Given the description of an element on the screen output the (x, y) to click on. 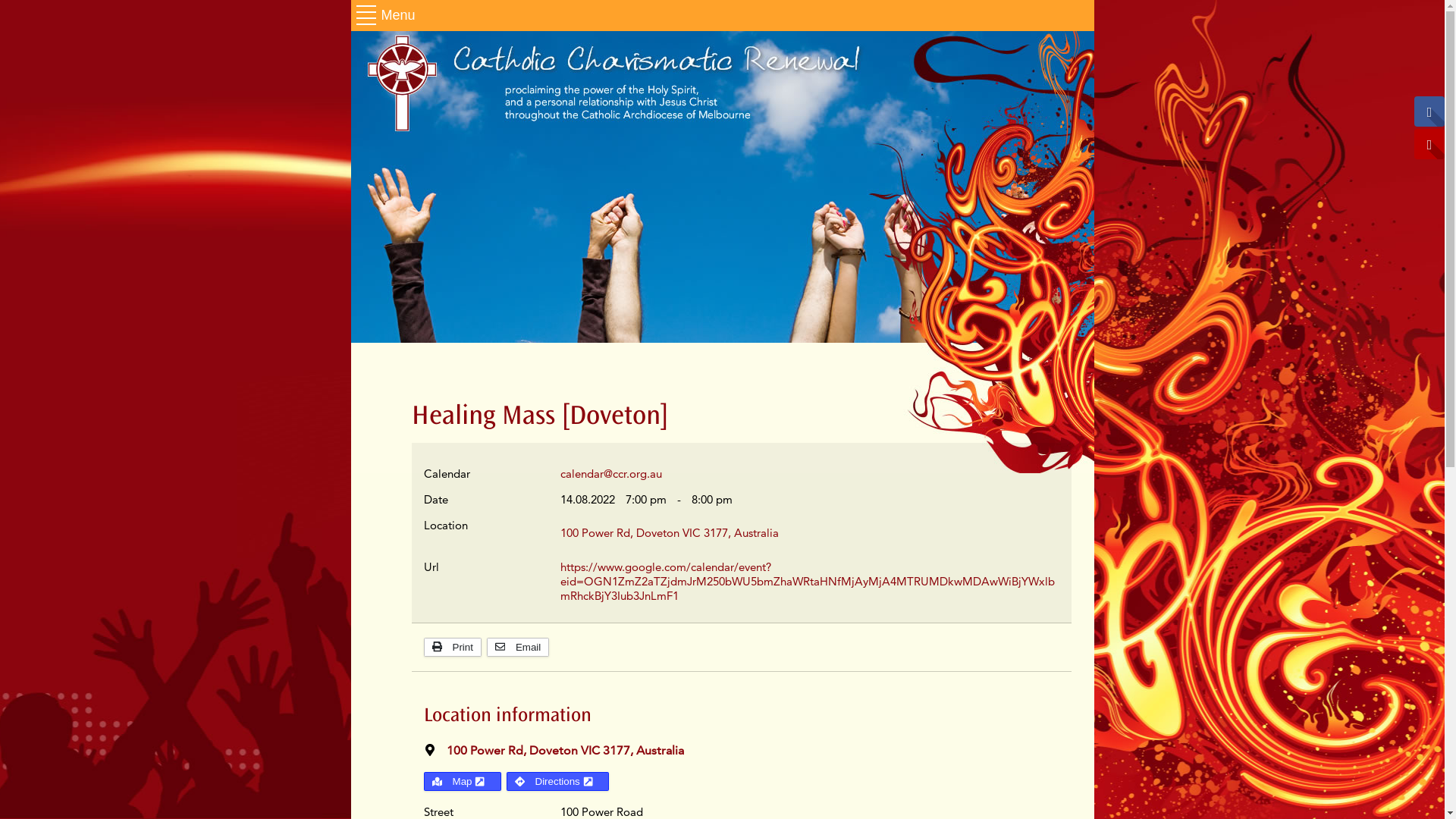
calendar@ccr.org.au Element type: text (610, 473)
Directions Element type: text (557, 780)
100 Power Rd, Doveton VIC 3177, Australia Element type: text (668, 532)
Map Element type: text (461, 780)
Print Element type: text (451, 646)
Menu Element type: text (386, 15)
image Element type: hover (721, 186)
100 Power Rd, Doveton VIC 3177, Australia Element type: text (564, 750)
Email Element type: text (517, 646)
